Given the description of an element on the screen output the (x, y) to click on. 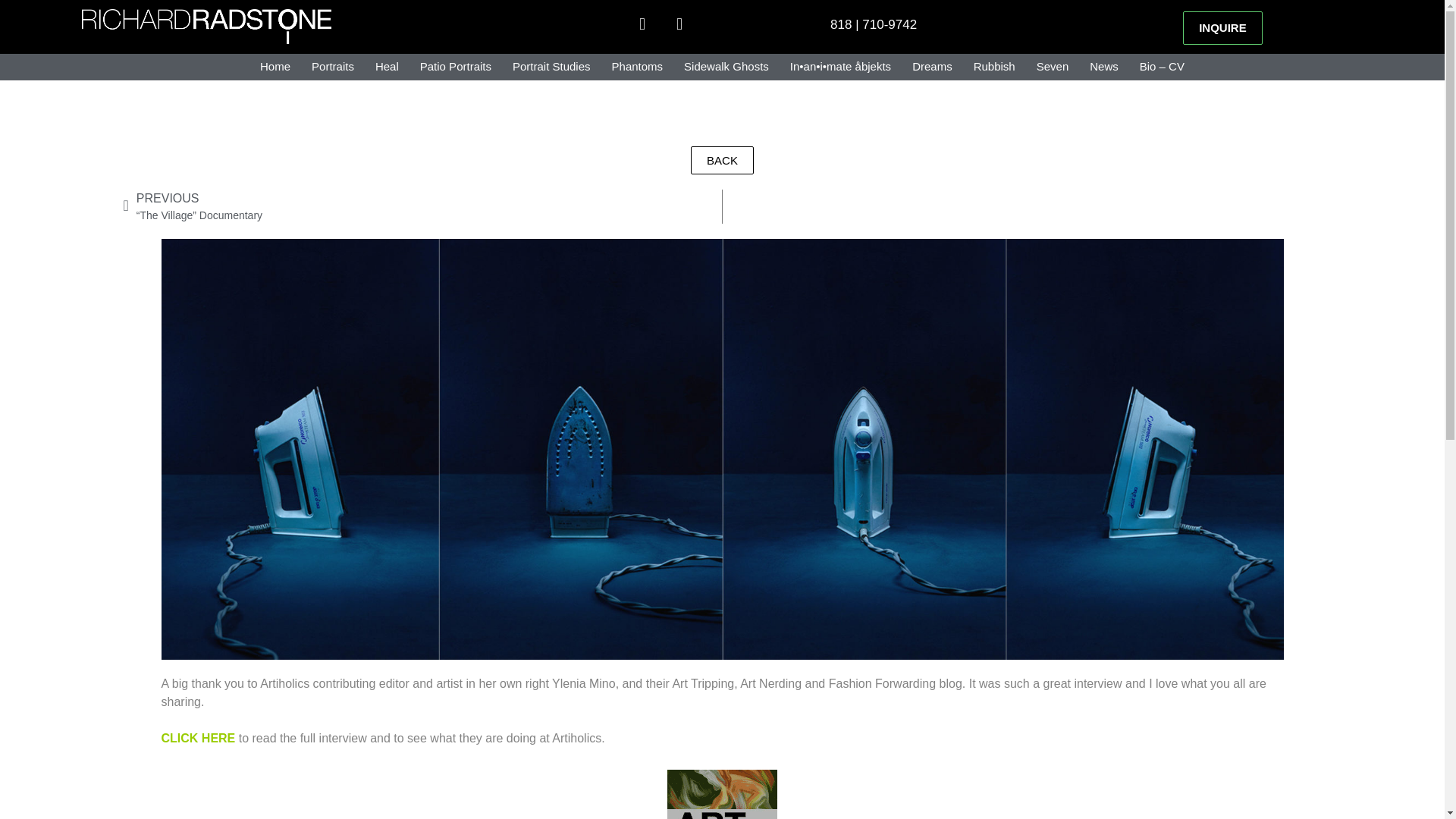
Phantoms (637, 66)
Richard Radstone Home (274, 66)
News (1104, 66)
Phantoms by Radstone (637, 66)
Patio Portraits (455, 66)
Heal (386, 66)
Portraits by Radstone (332, 66)
Sidewalk Ghosts (726, 66)
Rubbish by Radstone (994, 66)
Sidewalk Ghosts by Radstone (726, 66)
